Given the description of an element on the screen output the (x, y) to click on. 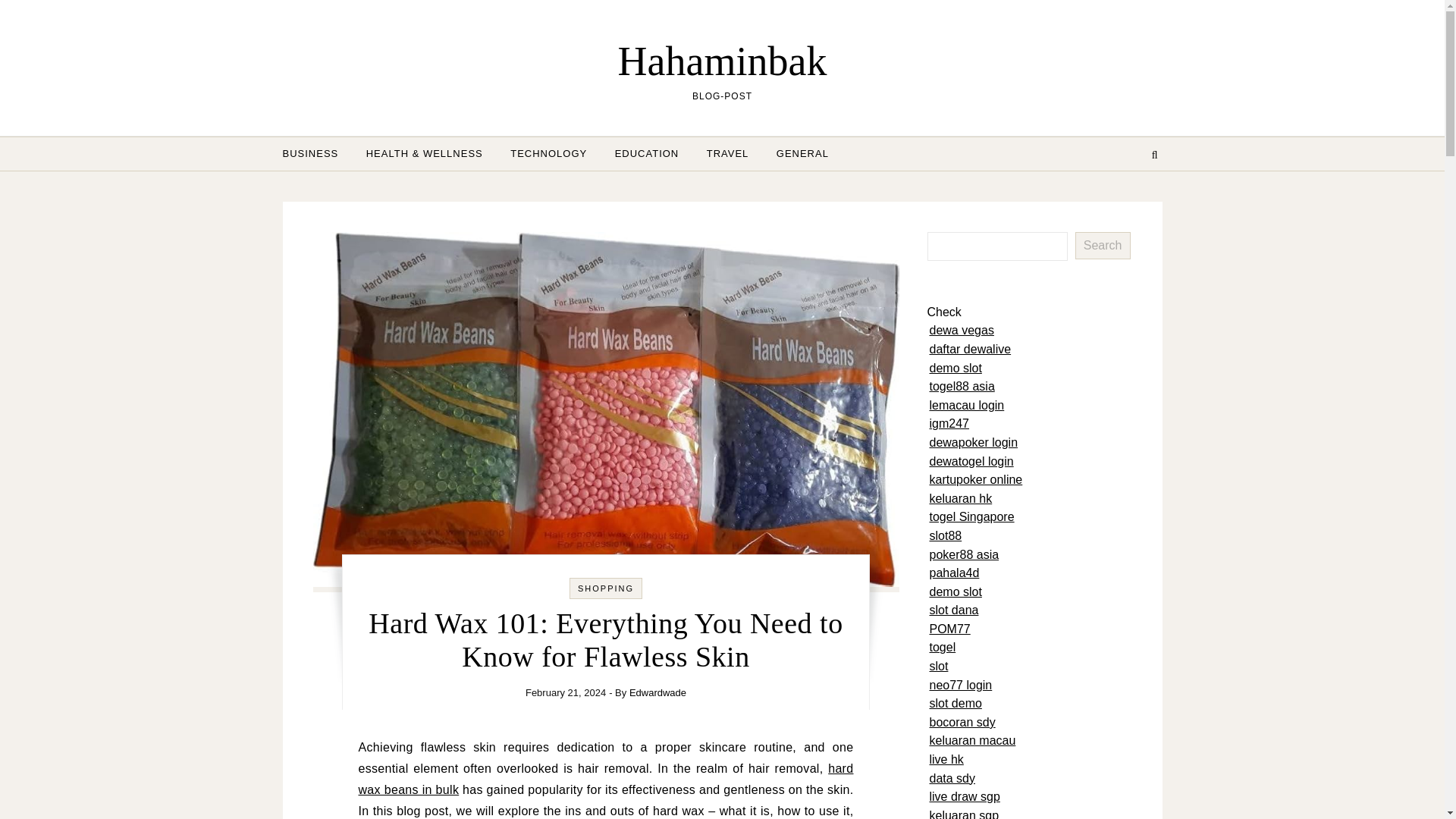
Search (1103, 245)
Hahaminbak (721, 61)
hard wax beans in bulk (605, 779)
BUSINESS (316, 153)
GENERAL (796, 153)
TRAVEL (727, 153)
igm247 (949, 422)
TECHNOLOGY (547, 153)
togel88 asia (962, 386)
daftar dewalive (970, 349)
